Given the description of an element on the screen output the (x, y) to click on. 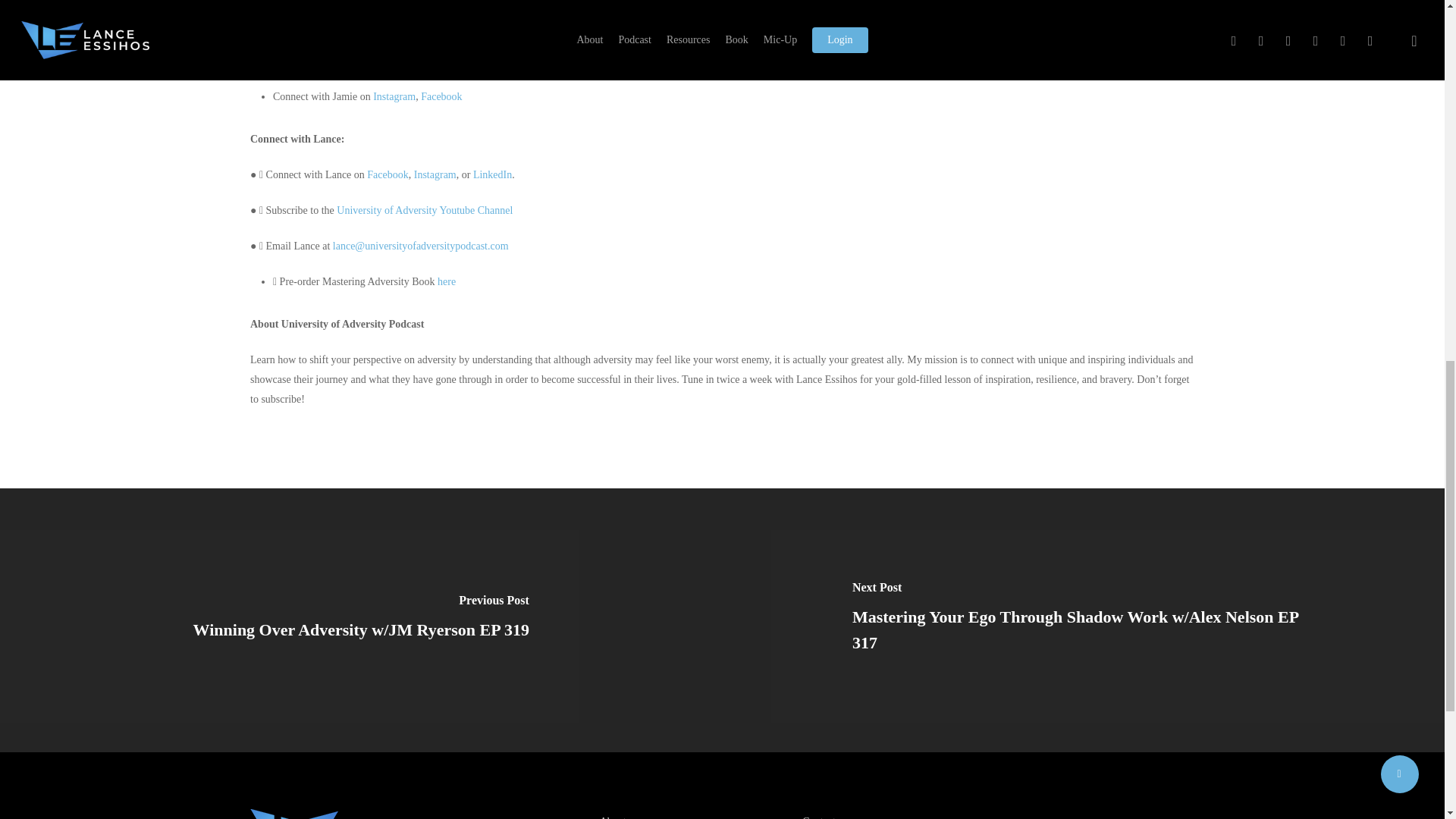
Facebook (440, 96)
Instagram (393, 96)
Facebook (386, 174)
University of Adversity Youtube Channel (424, 210)
website (323, 57)
Instagram (435, 174)
LinkedIn (492, 174)
Podcast (367, 76)
here (446, 281)
